Given the description of an element on the screen output the (x, y) to click on. 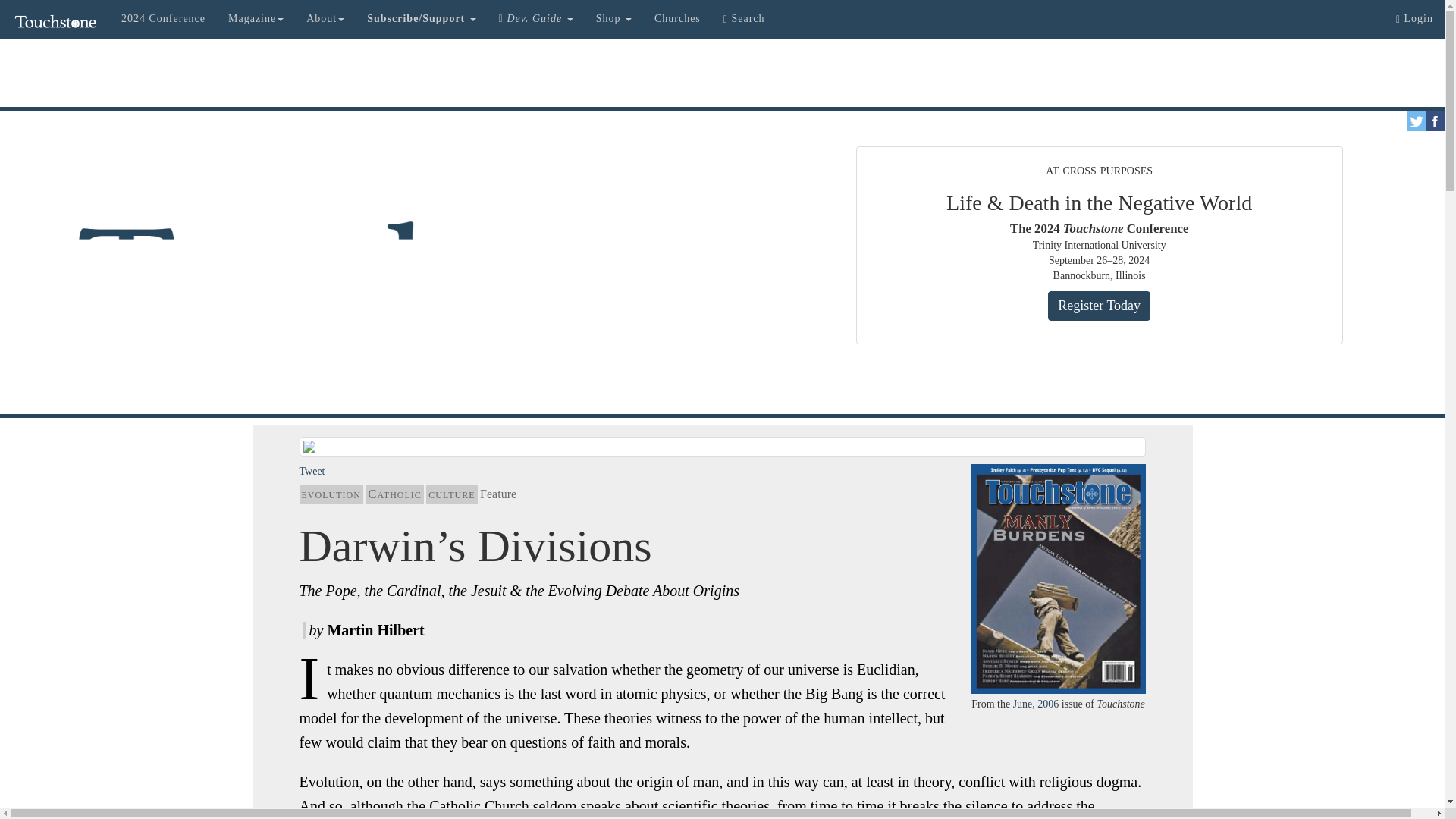
Login (1414, 18)
Churches (677, 18)
Register Today (1099, 306)
Shop (614, 18)
About (325, 18)
Dev. Guide (536, 18)
Magazine (255, 18)
2024 Conference (163, 18)
Search (743, 18)
